Given the description of an element on the screen output the (x, y) to click on. 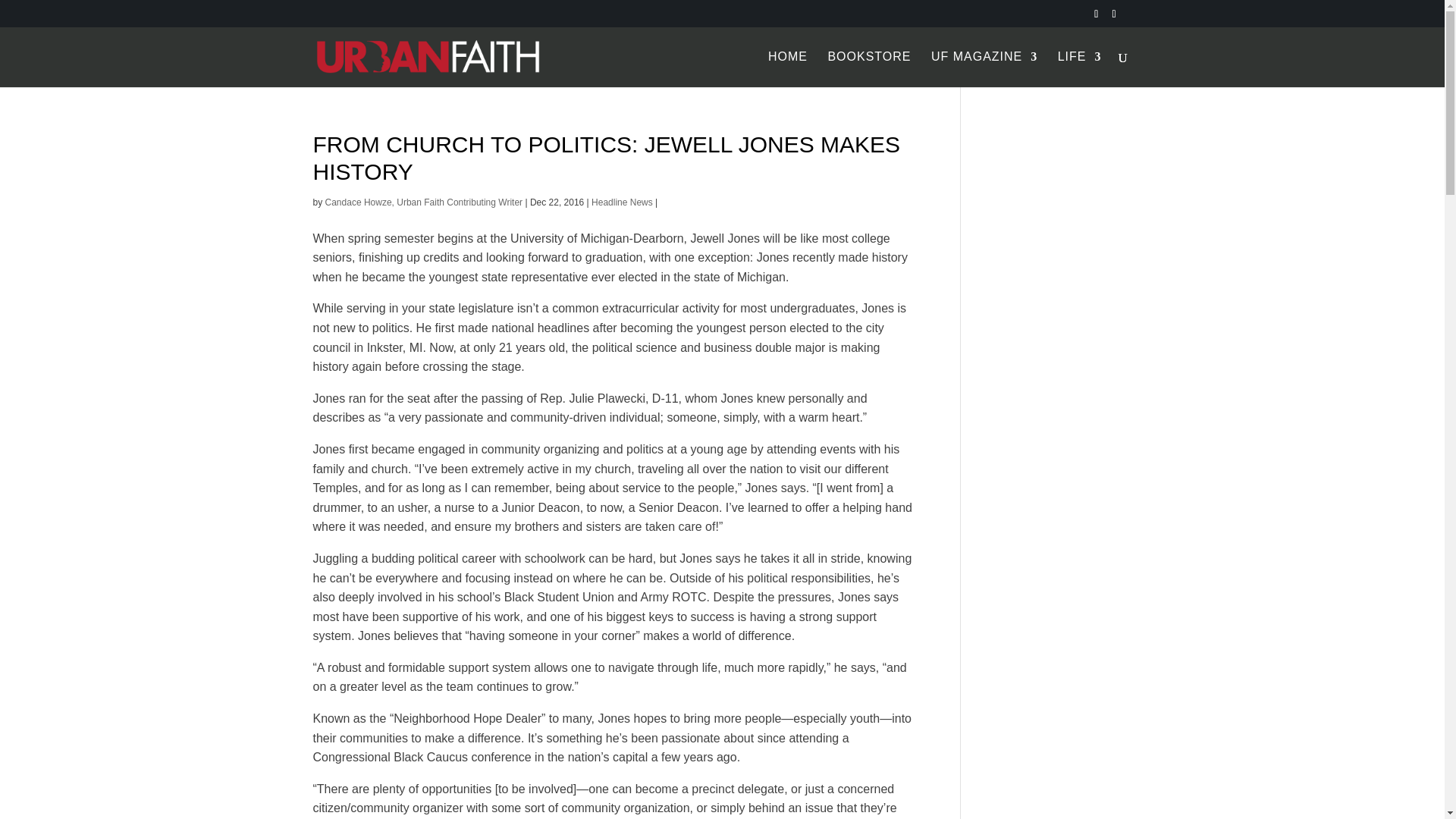
Candace Howze, Urban Faith Contributing Writer (423, 202)
FROM CHURCH TO POLITICS: JEWELL JONES MAKES HISTORY (606, 157)
LIFE (1080, 68)
Headline News (621, 202)
BOOKSTORE (869, 68)
Posts by Candace Howze, Urban Faith Contributing Writer (423, 202)
HOME (788, 68)
UF MAGAZINE (983, 68)
